Given the description of an element on the screen output the (x, y) to click on. 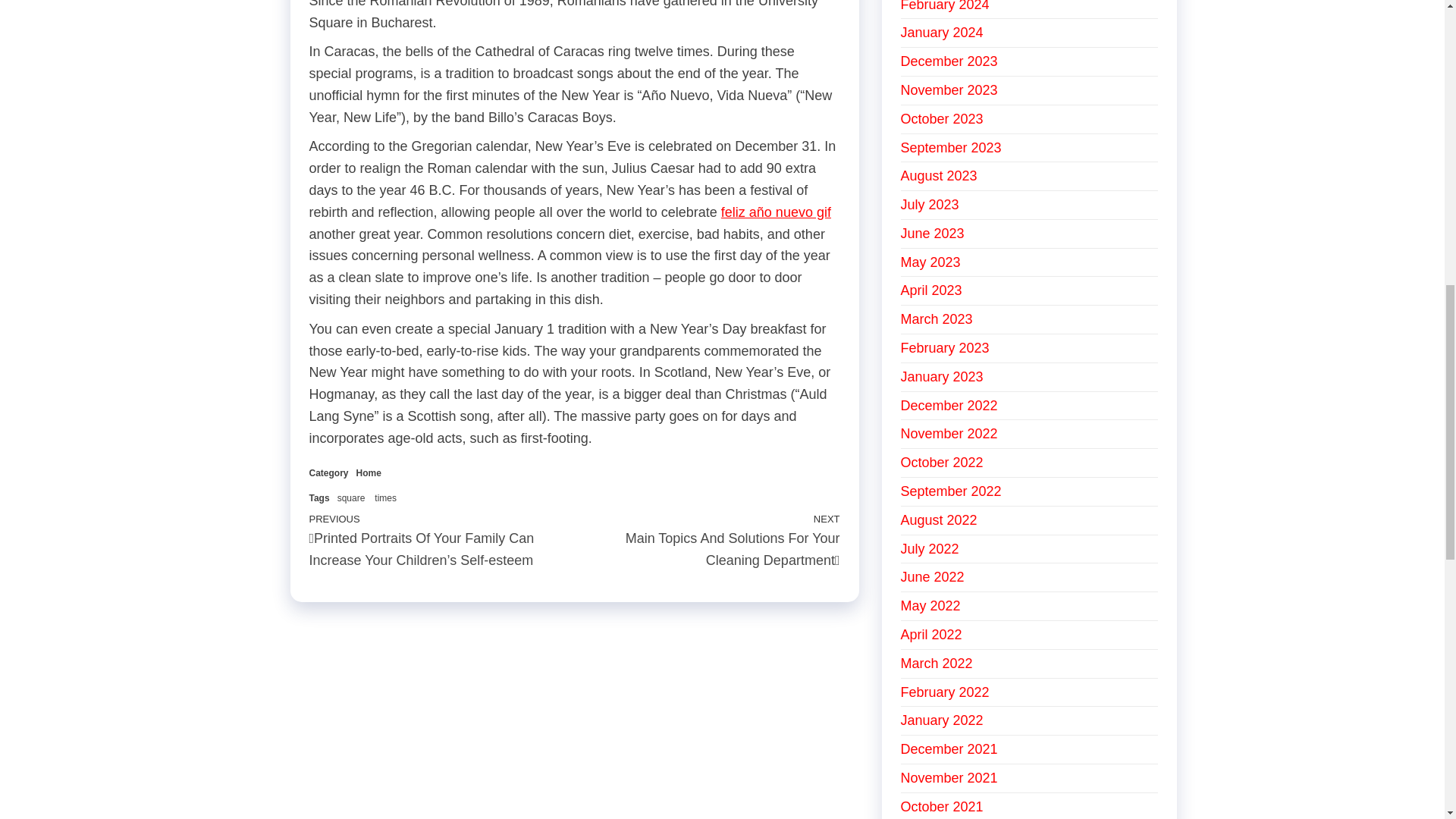
February 2023 (945, 347)
June 2023 (932, 233)
square (351, 498)
January 2024 (942, 32)
October 2023 (942, 118)
Home (368, 472)
December 2022 (949, 405)
September 2023 (951, 146)
March 2023 (936, 319)
December 2023 (949, 61)
October 2022 (942, 462)
times (385, 498)
September 2022 (951, 491)
January 2023 (942, 376)
